Given the description of an element on the screen output the (x, y) to click on. 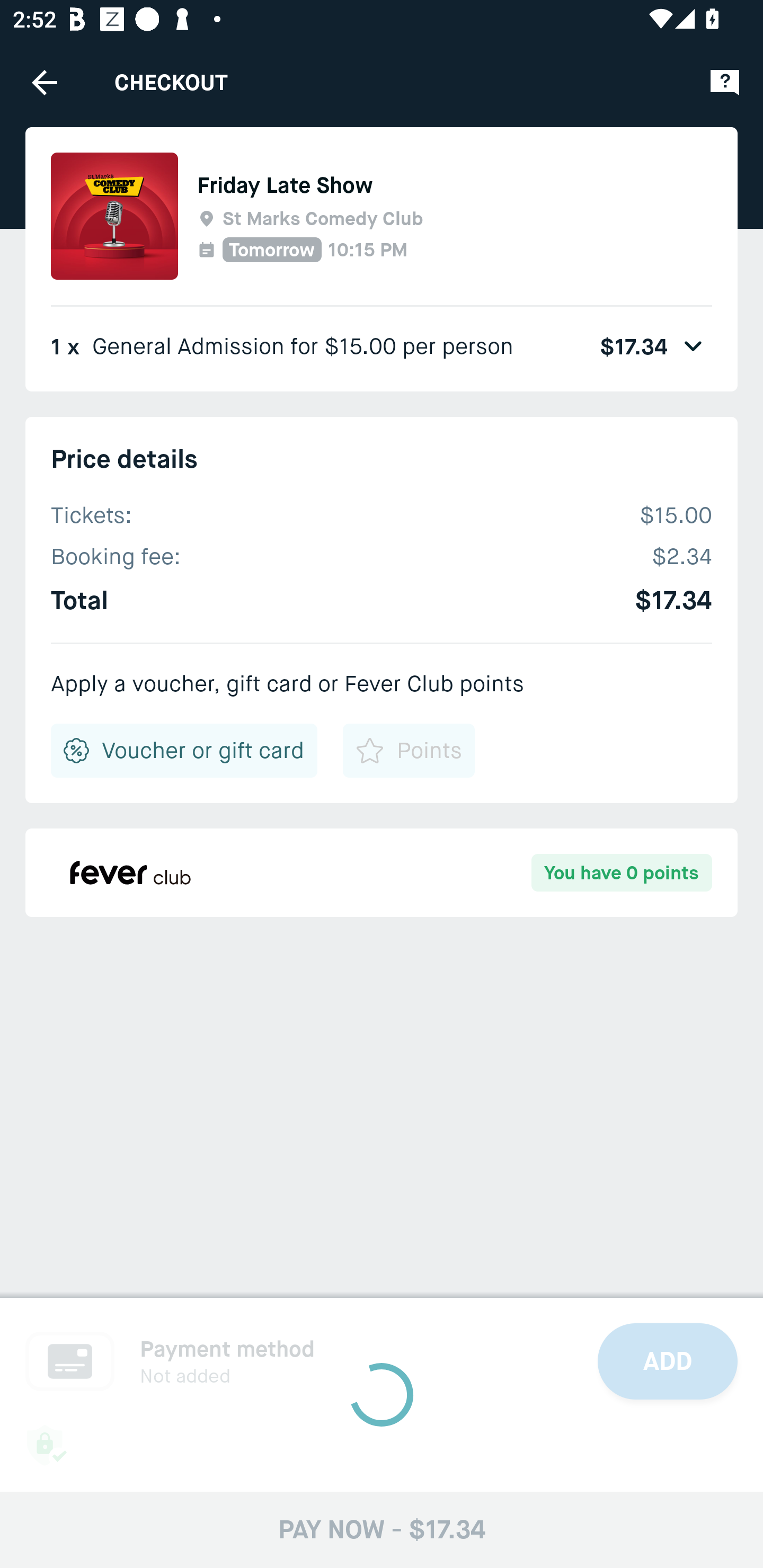
Navigate up (44, 82)
Help (724, 81)
Voucher or gift card (184, 749)
Points (408, 749)
ADD (667, 1361)
PAY NOW - $17.34 (381, 1529)
